Given the description of an element on the screen output the (x, y) to click on. 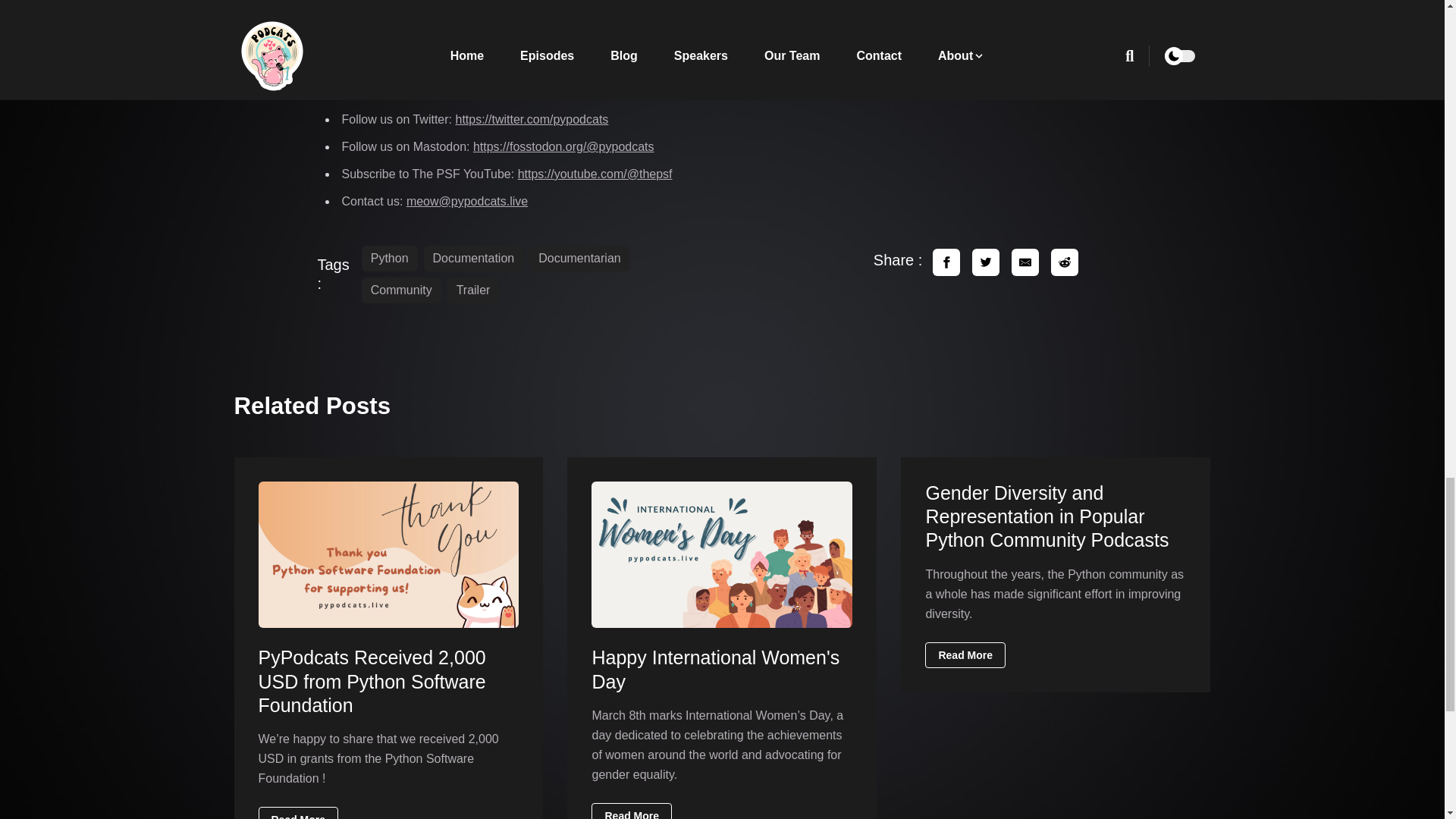
Community (401, 290)
Documentation (473, 258)
Python (389, 258)
Trailer (472, 290)
PyPodcats Received 2,000 USD from Python Software Foundation (370, 681)
Documentarian (579, 258)
